Given the description of an element on the screen output the (x, y) to click on. 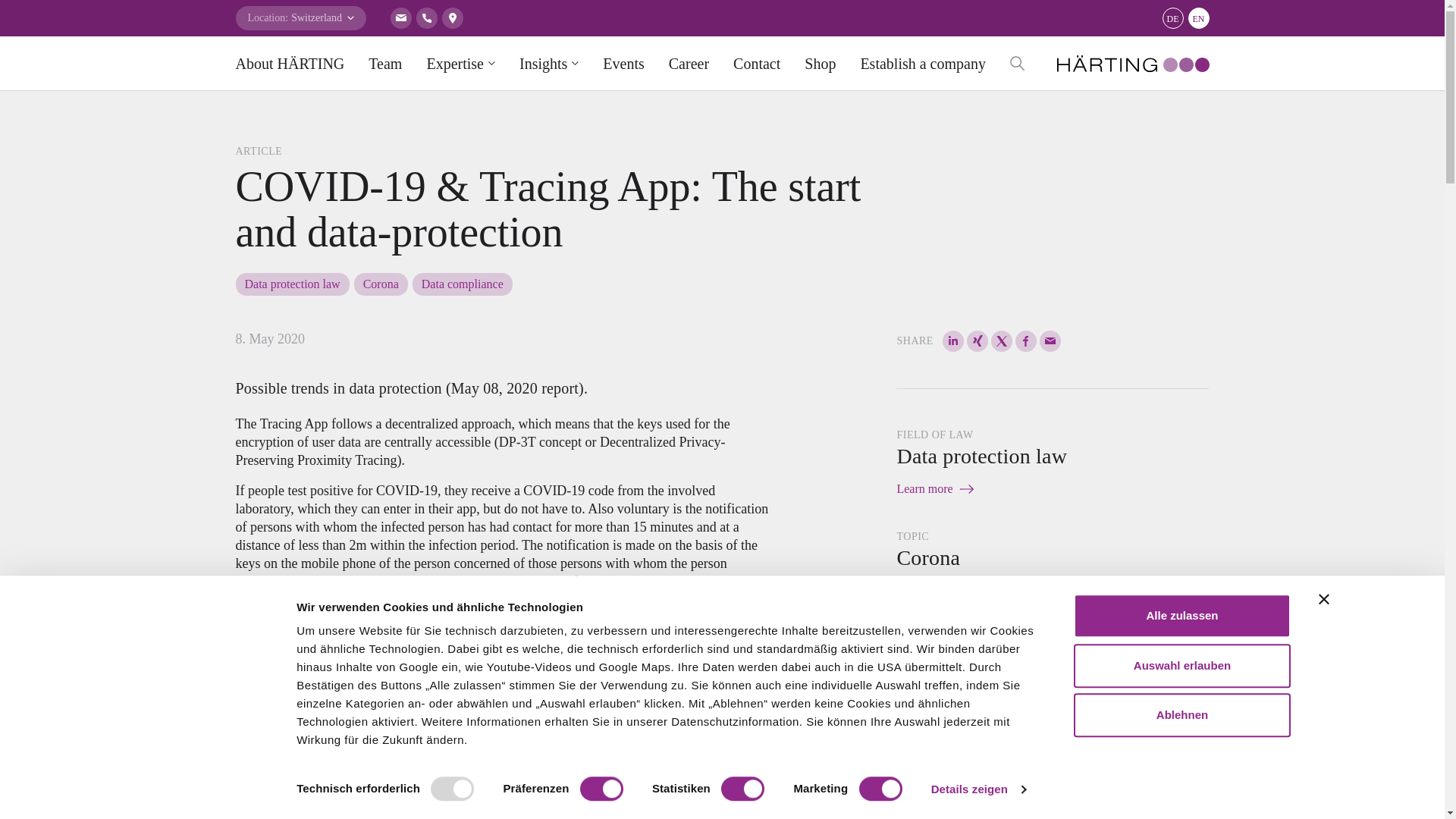
Details zeigen (977, 789)
Ablehnen (1182, 714)
Alle zulassen (1182, 615)
Auswahl erlauben (1182, 665)
EN (1198, 17)
DE (1171, 17)
